Given the description of an element on the screen output the (x, y) to click on. 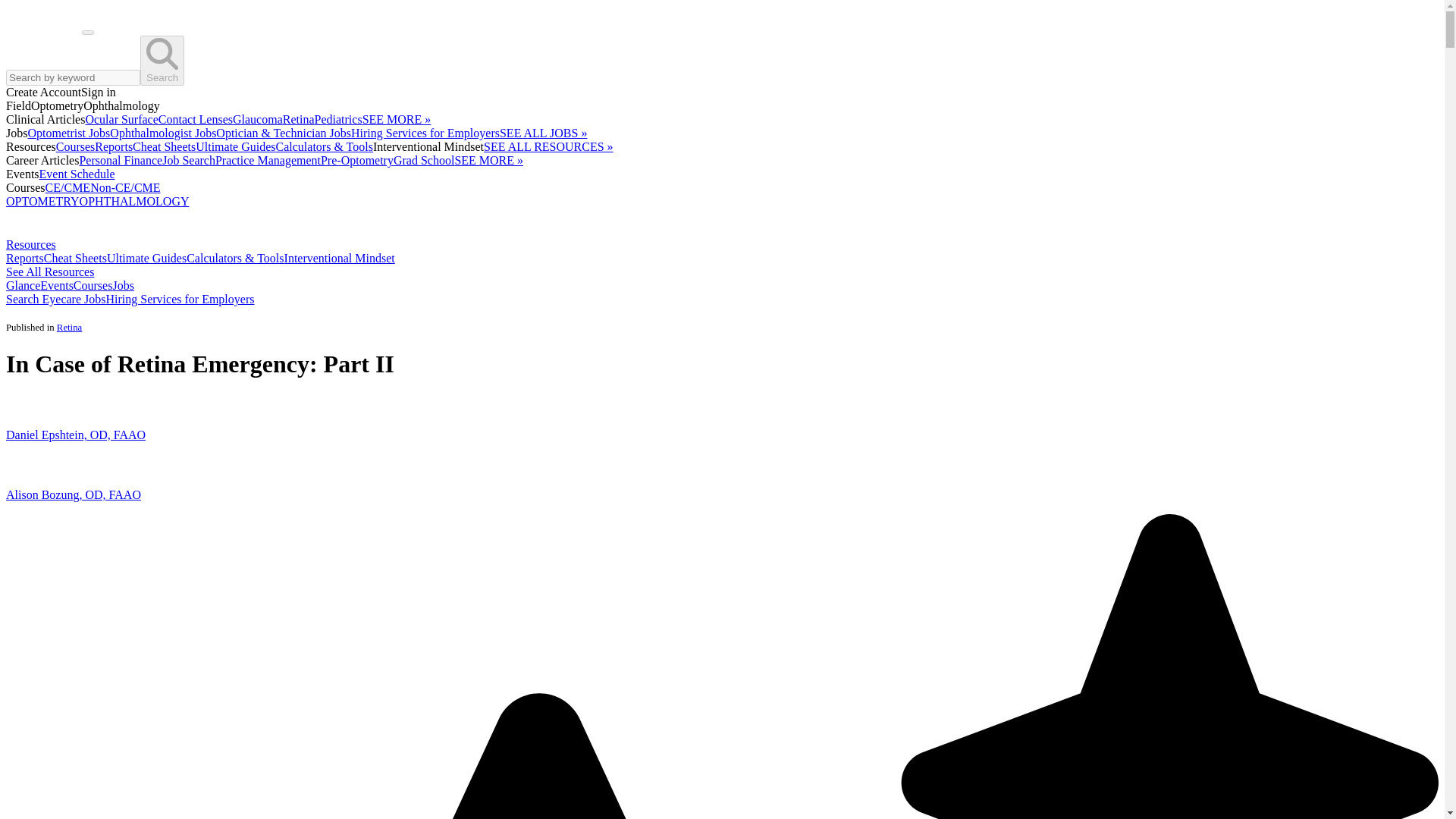
Resources (30, 244)
Personal Finance (119, 160)
Contact Lenses (195, 119)
Search (161, 60)
See All Resources (49, 271)
Hiring Services for Employers (424, 132)
Ultimate Guides (146, 257)
Ophthalmologist Jobs (162, 132)
Retina (298, 119)
Interventional Mindset (338, 257)
Cheat Sheets (163, 146)
Cheat Sheets (74, 257)
Ultimate Guides (235, 146)
Job Search (188, 160)
OPTOMETRY (42, 201)
